Given the description of an element on the screen output the (x, y) to click on. 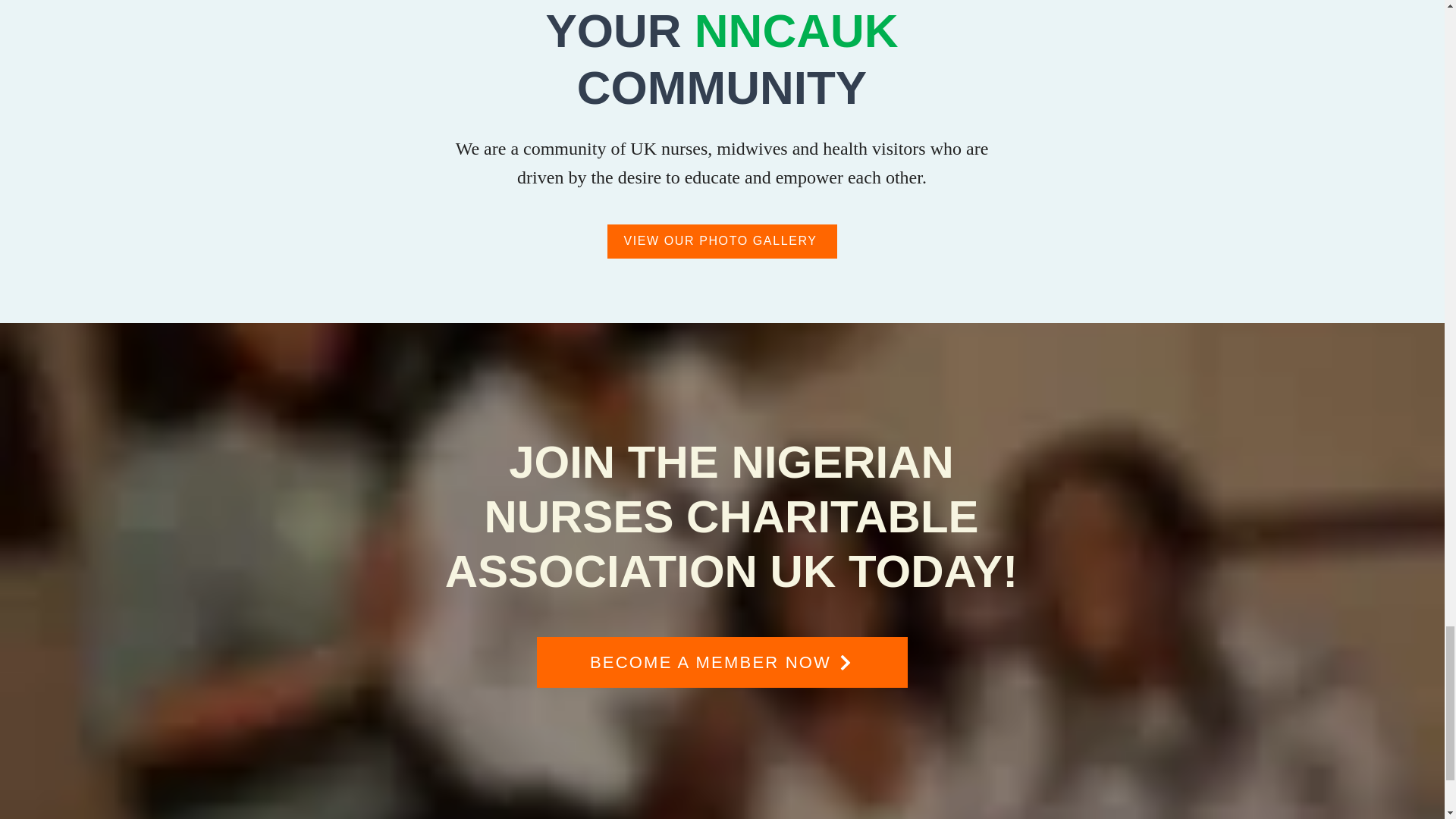
BECOME A MEMBER NOW (722, 662)
VIEW OUR PHOTO GALLERY (721, 241)
